Given the description of an element on the screen output the (x, y) to click on. 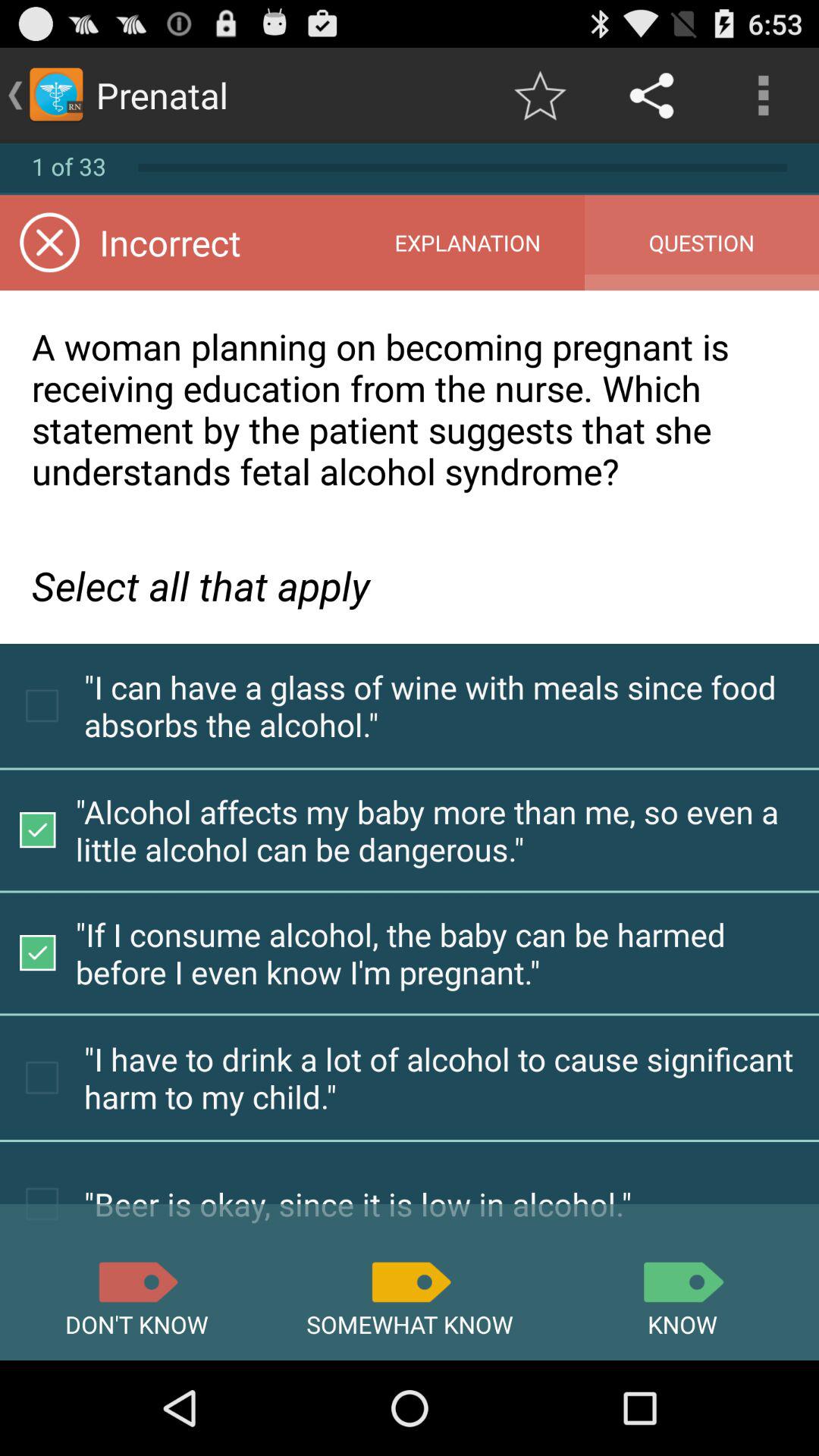
toggle somewhat know option (409, 1281)
